Given the description of an element on the screen output the (x, y) to click on. 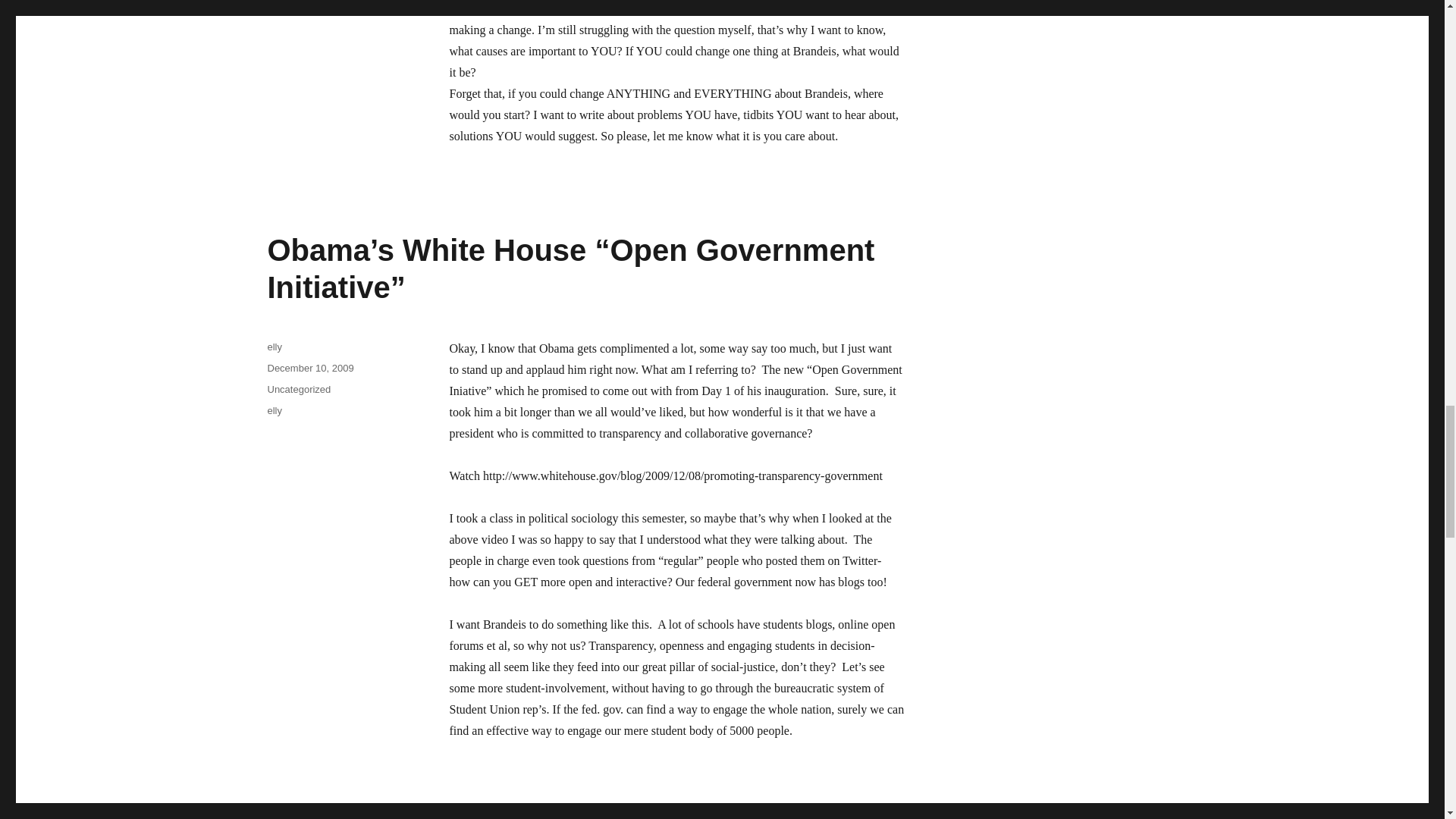
elly (274, 410)
December 10, 2009 (309, 367)
Uncategorized (298, 389)
elly (274, 346)
